Given the description of an element on the screen output the (x, y) to click on. 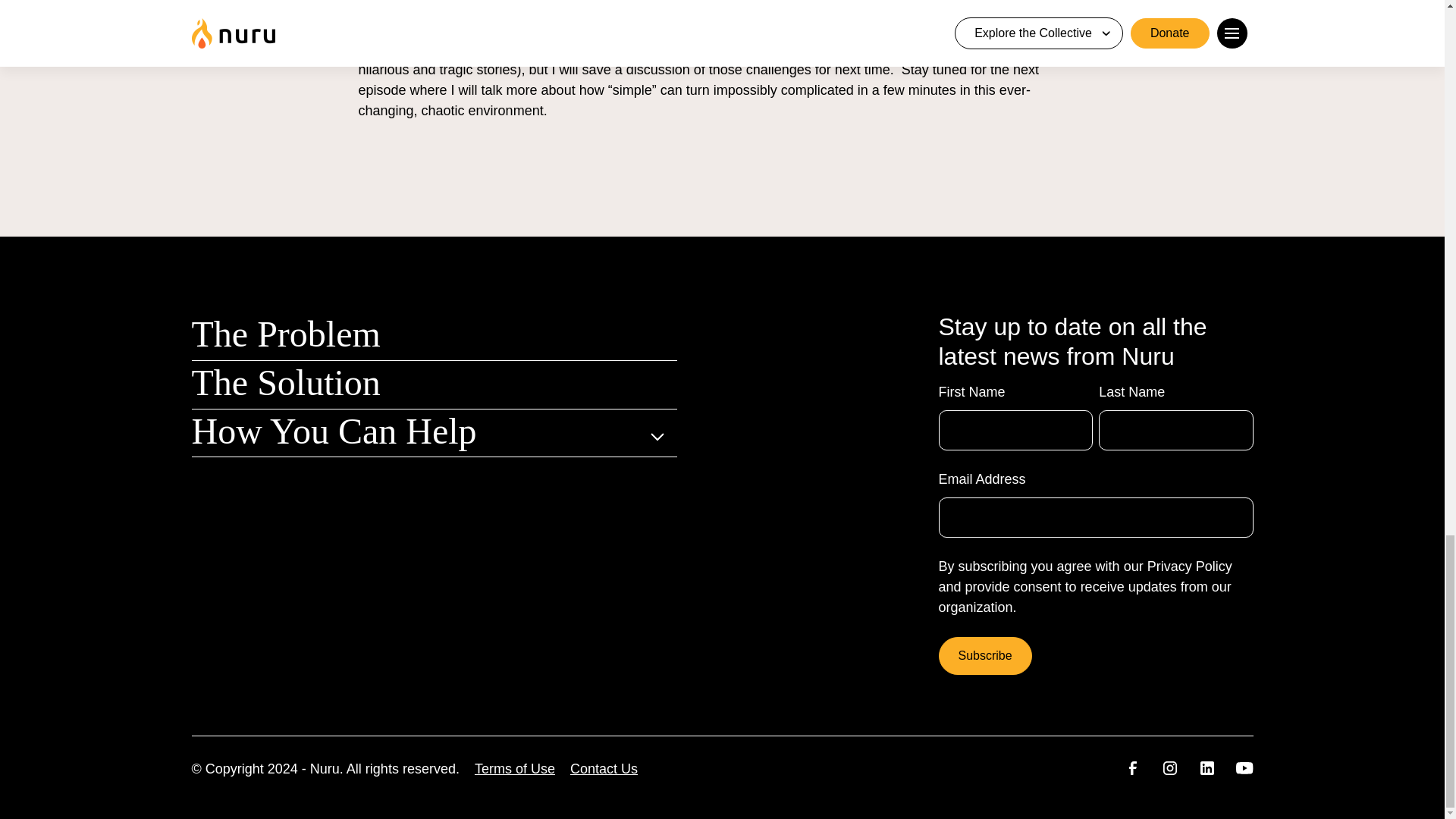
The Problem (285, 333)
Terms of Use (514, 768)
Contact Us (603, 768)
Subscribe (985, 655)
Privacy Policy (1189, 566)
Subscribe (985, 655)
The Solution (285, 382)
How You Can Help (333, 431)
